Given the description of an element on the screen output the (x, y) to click on. 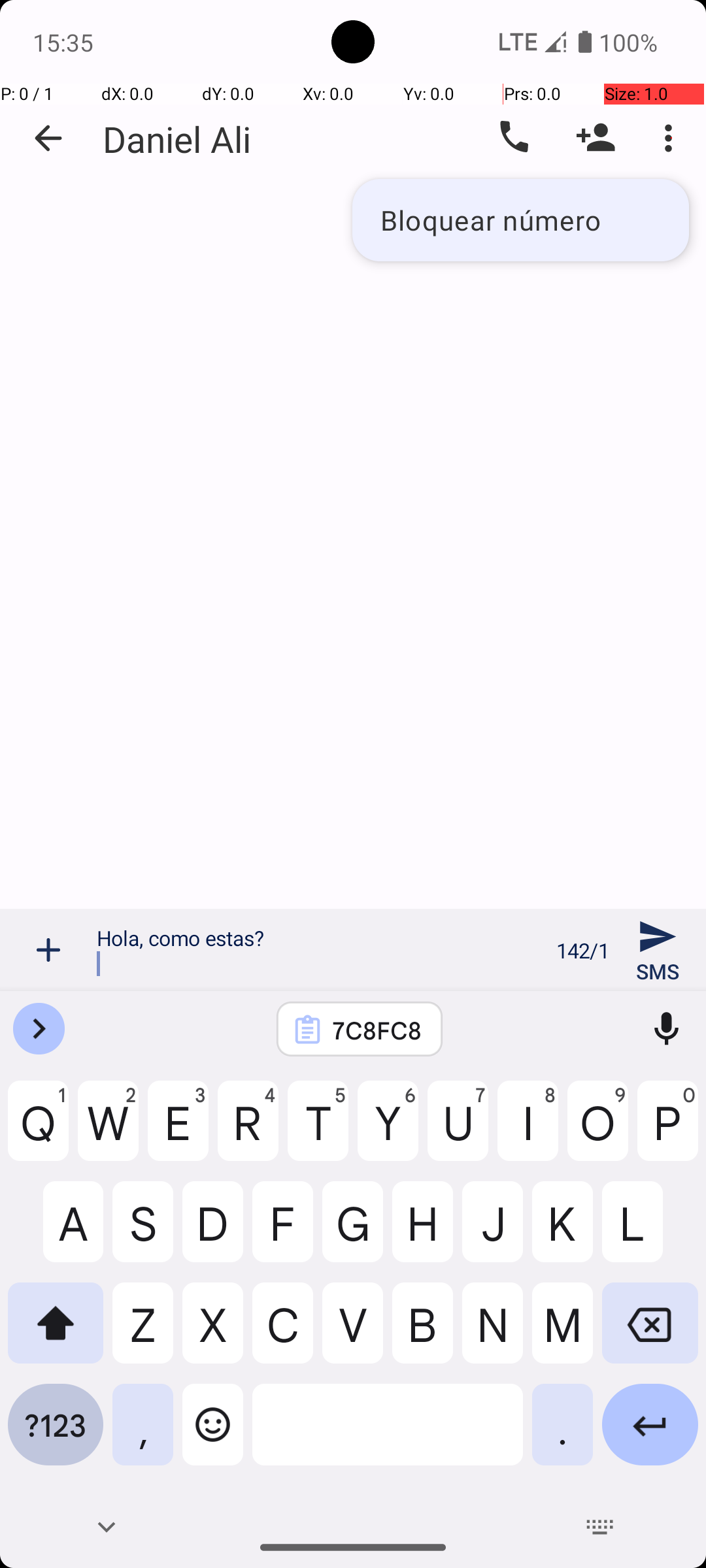
Bloquear número Element type: android.widget.TextView (520, 219)
